Given the description of an element on the screen output the (x, y) to click on. 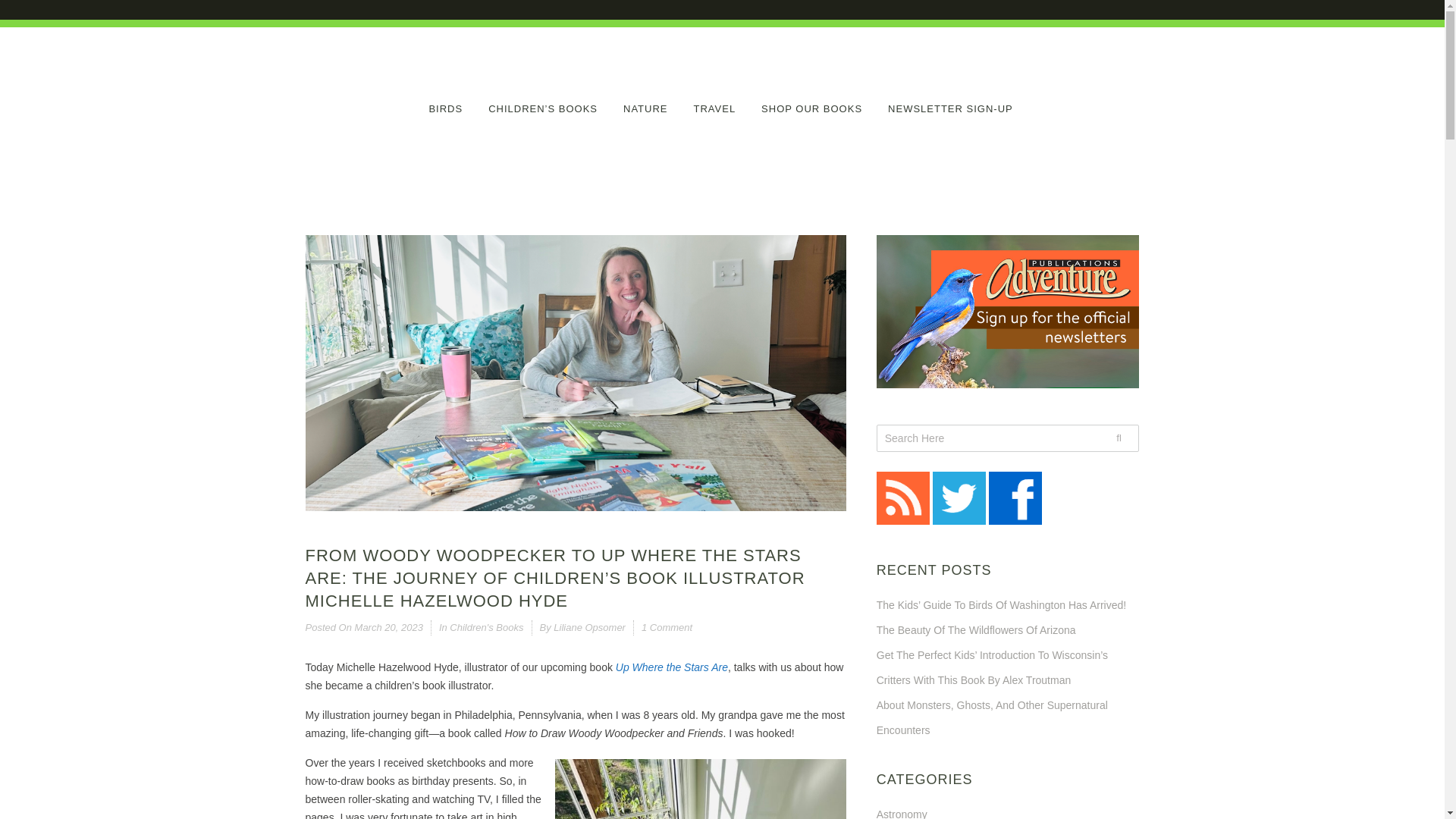
Children'S Books (485, 627)
1 Comment (667, 627)
NEWSLETTER SIGN-UP (950, 100)
Liliane Opsomer (589, 627)
Up Where the Stars Are (671, 666)
SHOP OUR BOOKS (811, 100)
